Given the description of an element on the screen output the (x, y) to click on. 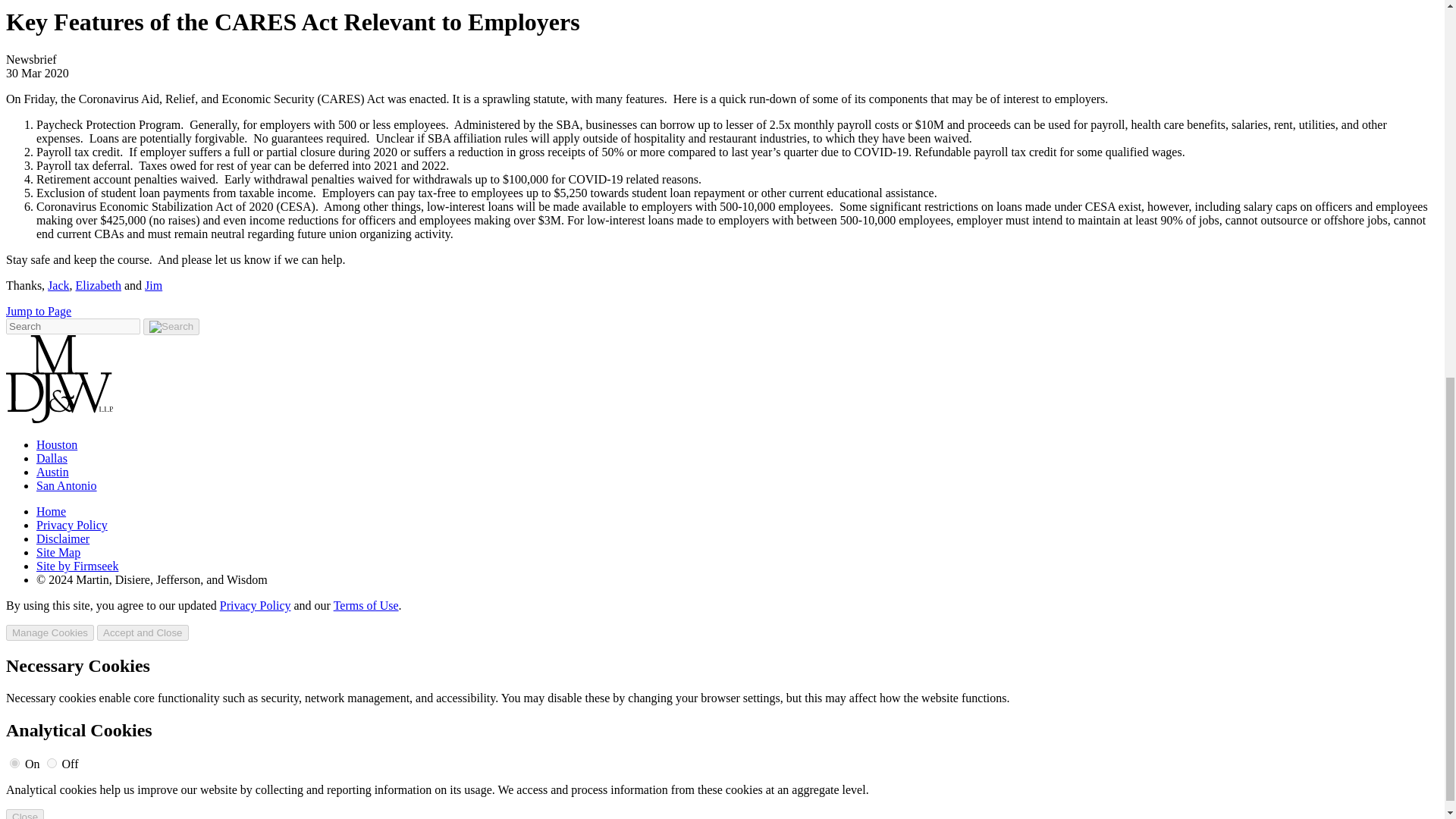
on (15, 763)
off (51, 763)
Logo condensed (59, 378)
